Given the description of an element on the screen output the (x, y) to click on. 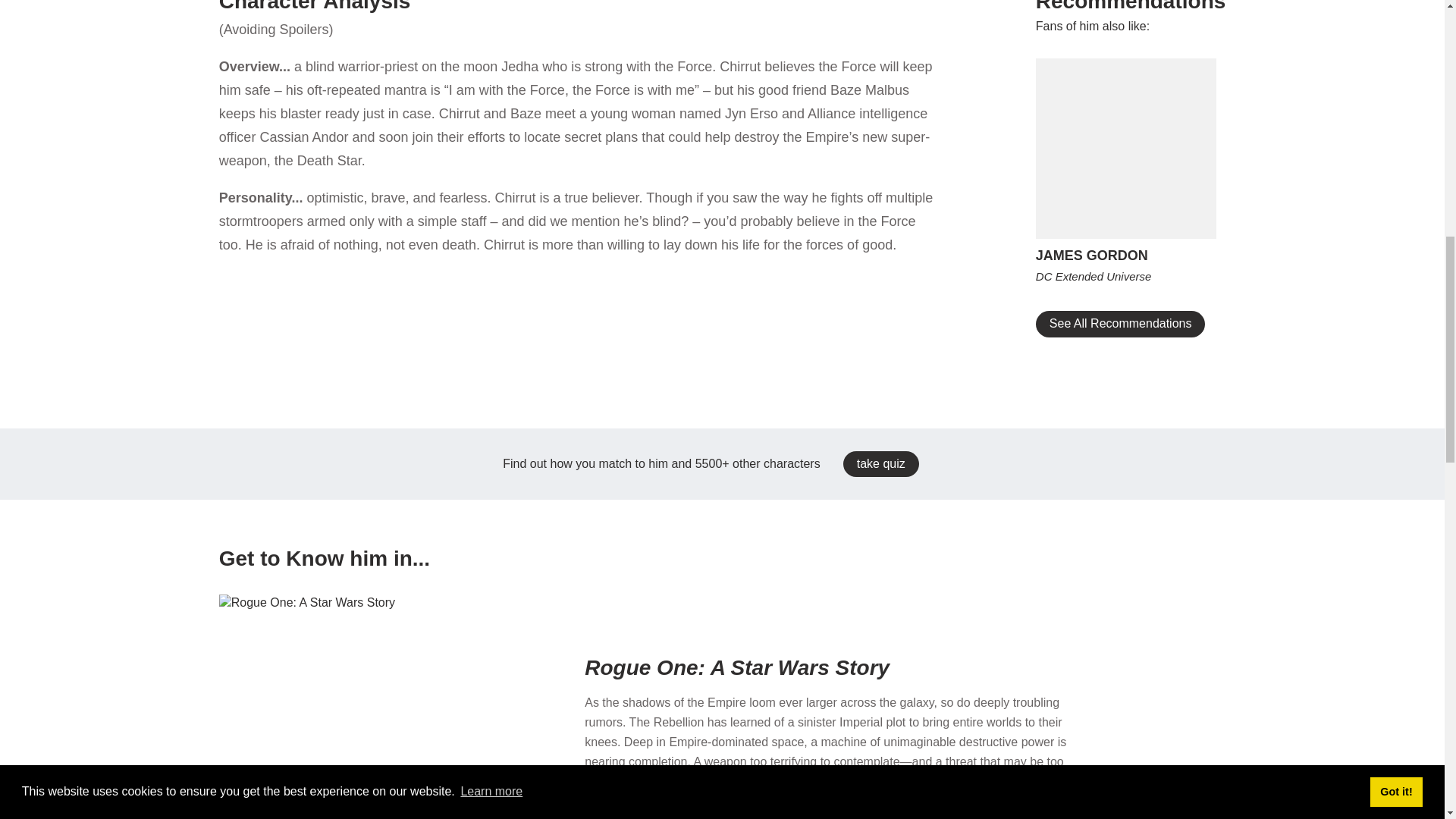
See All Recommendations (1120, 323)
JAMES GORDON (1125, 255)
DC Extended Universe (1125, 276)
Rogue One: A Star Wars Story (882, 667)
take quiz (880, 463)
